Given the description of an element on the screen output the (x, y) to click on. 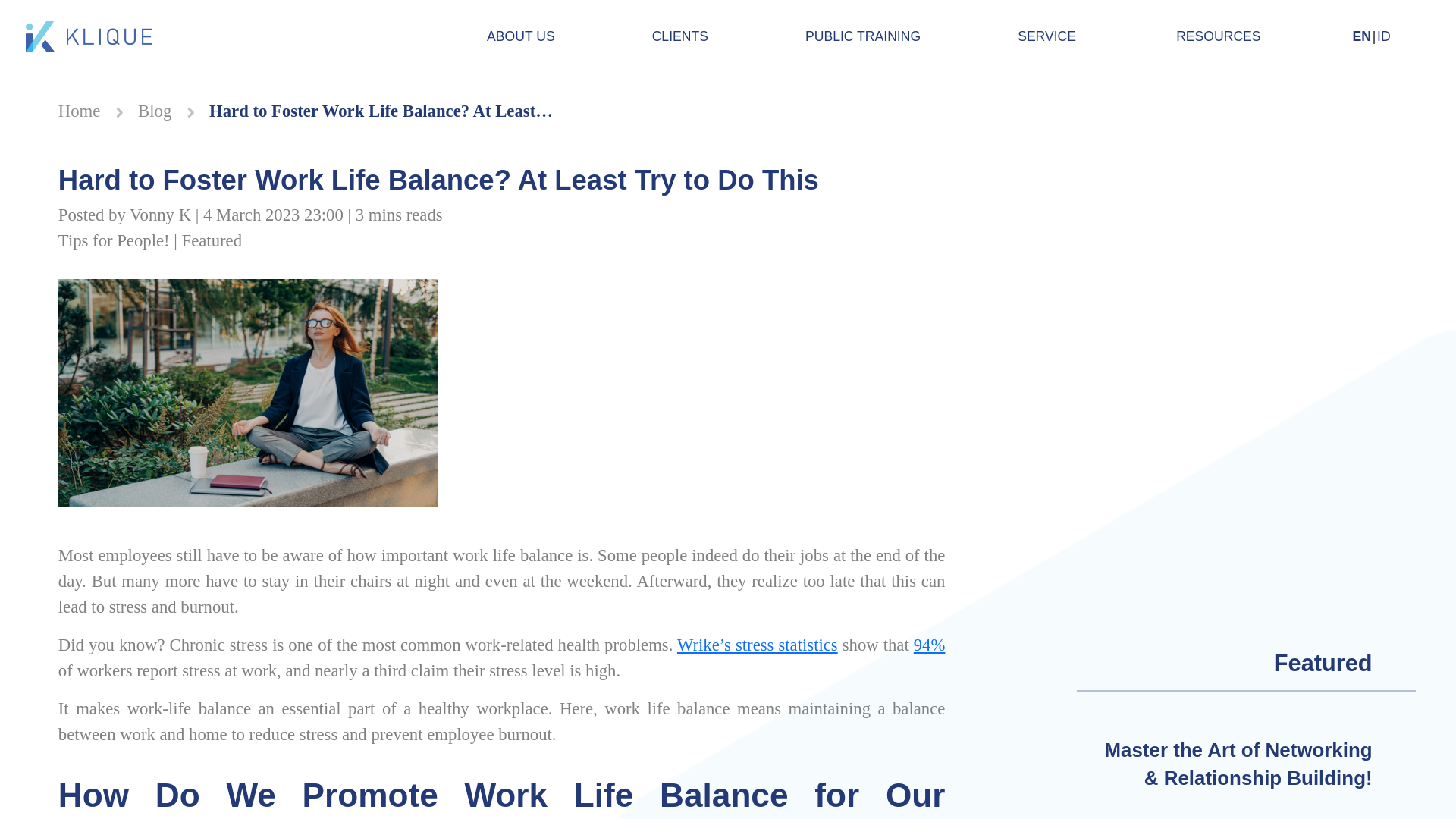
Home (79, 110)
RESOURCES (1219, 36)
CLIENTS (680, 36)
Blog (154, 110)
Tips for People! (114, 240)
Featured (211, 240)
EN (1361, 36)
SERVICE (1047, 36)
ABOUT US (521, 36)
PUBLIC TRAINING (863, 36)
ID (1383, 36)
